Given the description of an element on the screen output the (x, y) to click on. 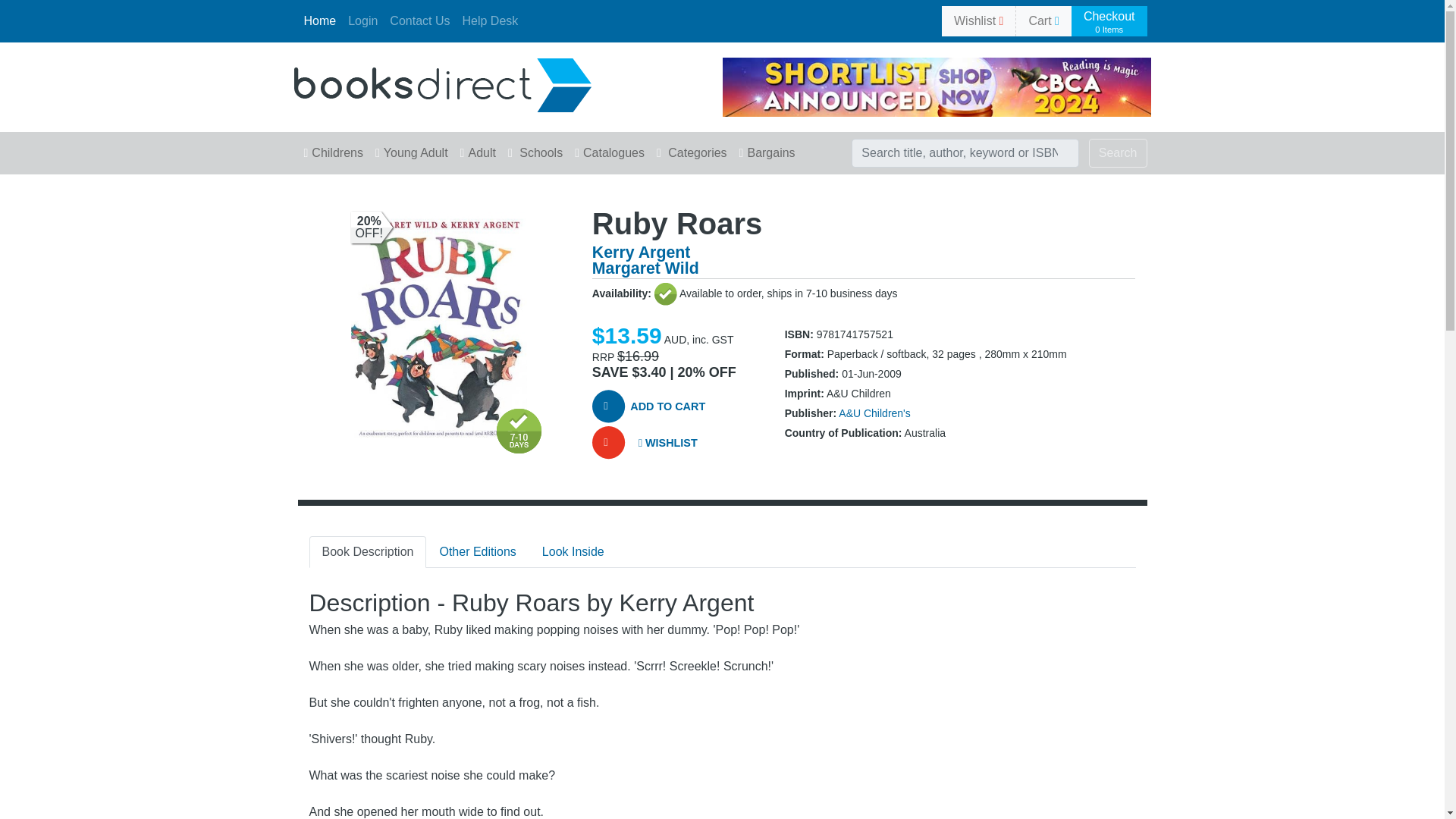
Wishlist (978, 20)
BooksDirect (442, 83)
Add this book to your wishlist (665, 443)
Cart (1043, 20)
Contact Us (419, 20)
Help Desk (489, 20)
Login (363, 20)
Add to Cart (1109, 21)
